Given the description of an element on the screen output the (x, y) to click on. 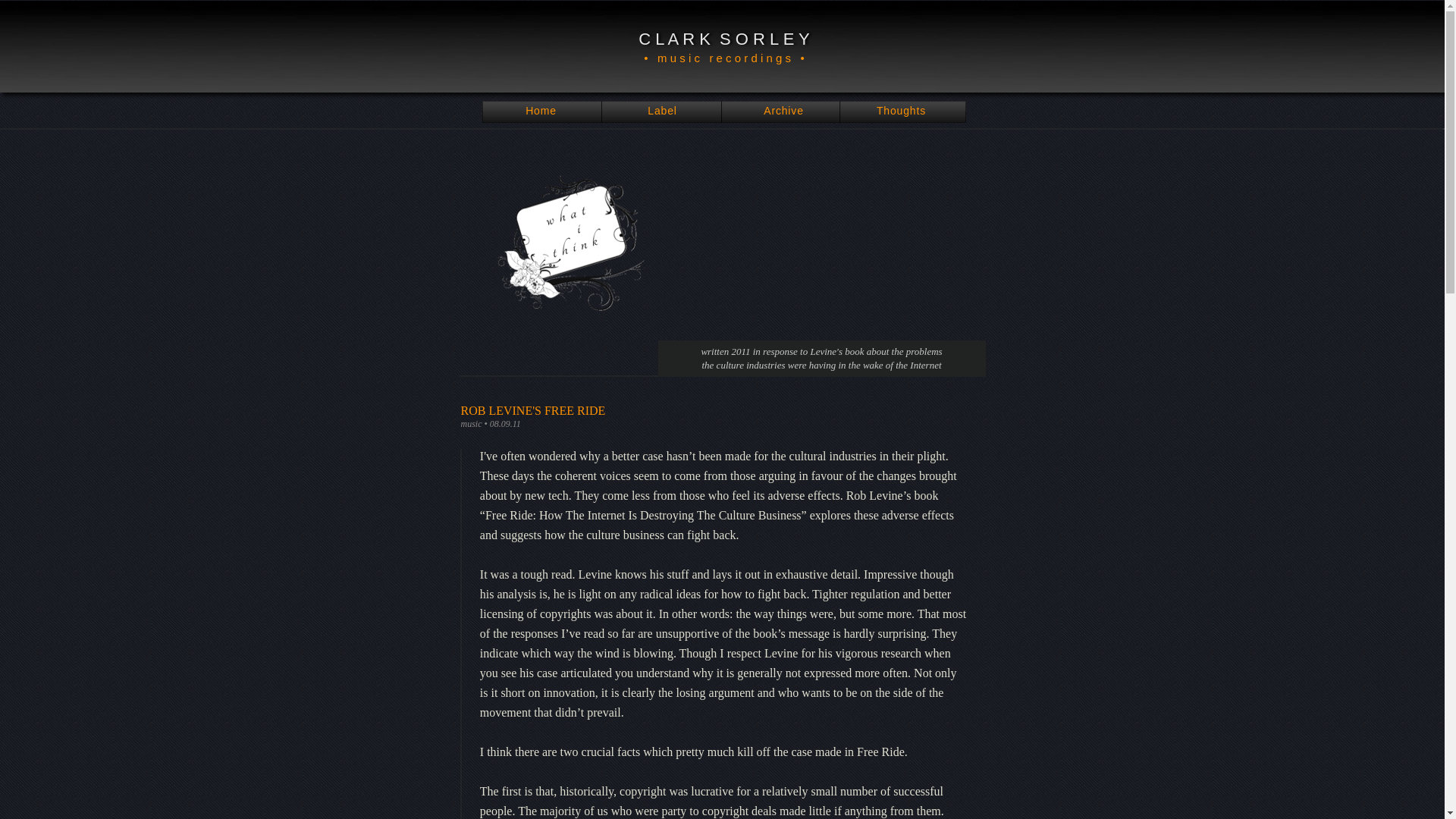
Label (662, 110)
C L A R K  S O R L E Y (724, 38)
Archive (782, 110)
Thoughts (901, 110)
Home (540, 110)
